Given the description of an element on the screen output the (x, y) to click on. 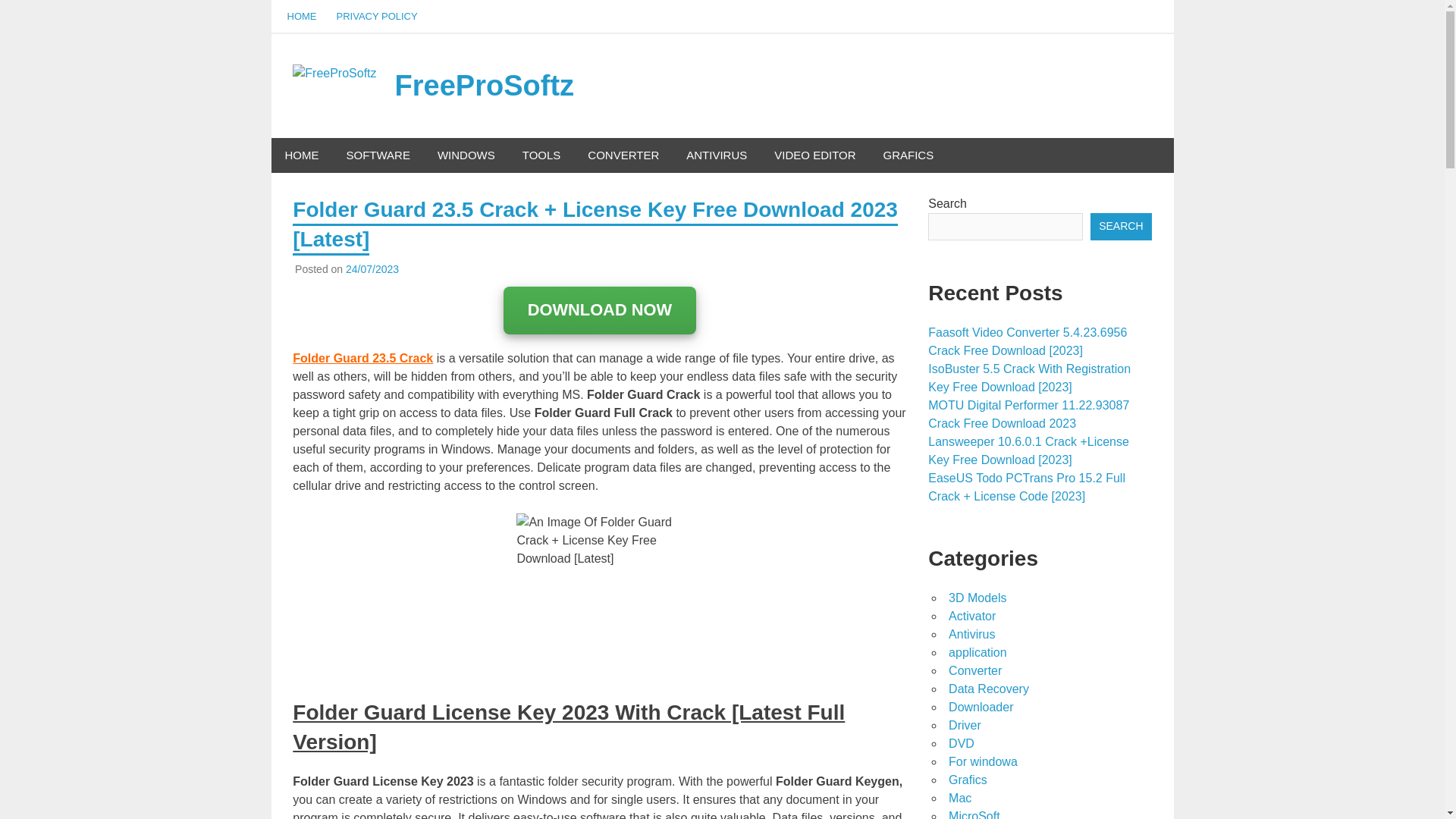
SOFTWARE (377, 155)
Folder Guard 23.5 Crack (362, 358)
CONVERTER (622, 155)
PRIVACY POLICY (376, 16)
VIDEO EDITOR (814, 155)
ANTIVIRUS (716, 155)
FreeProSoftz (483, 85)
TOOLS (541, 155)
SEARCH (1120, 226)
WINDOWS (465, 155)
